Given the description of an element on the screen output the (x, y) to click on. 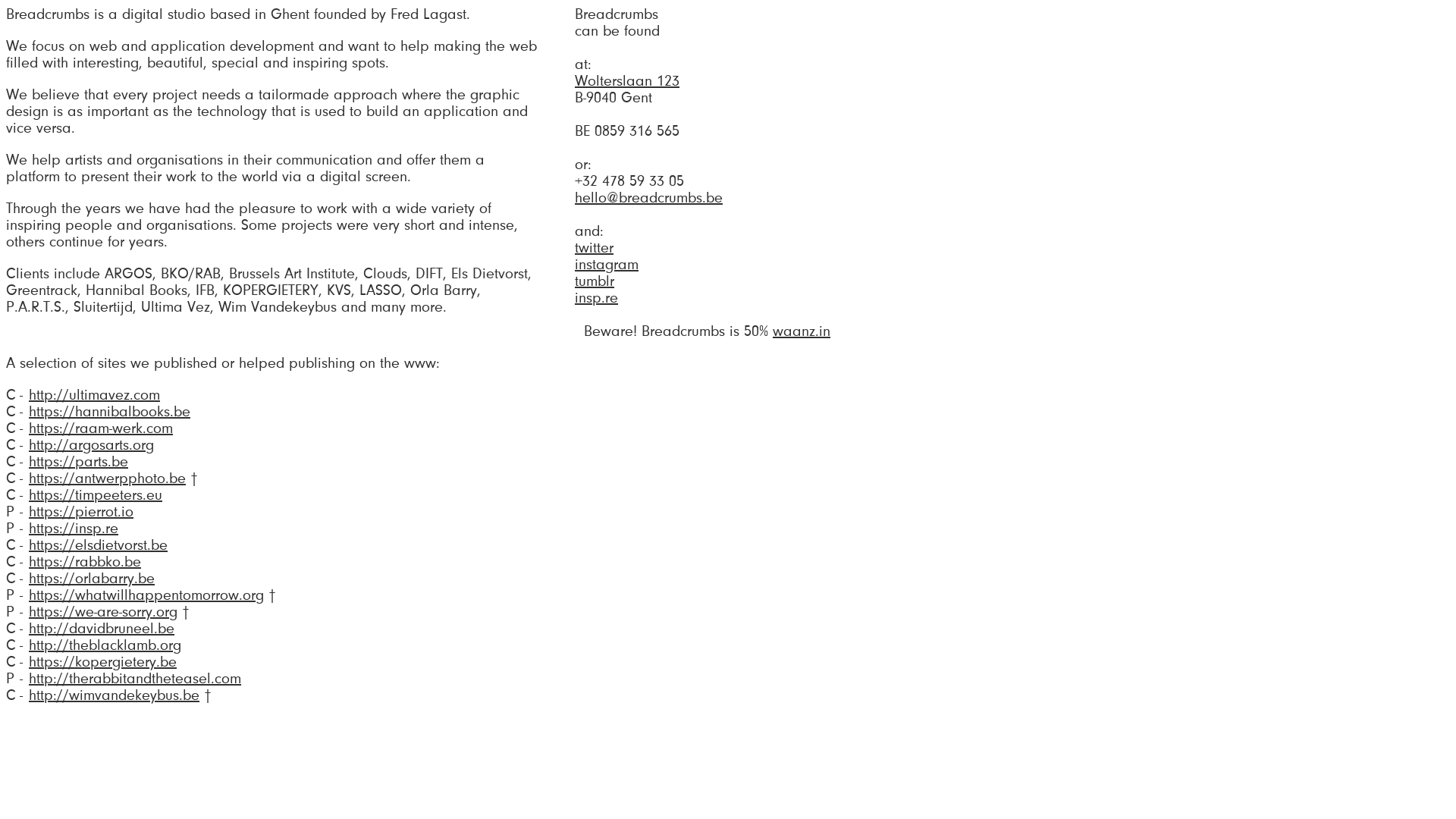
Chttps://orlabarry.be Element type: text (80, 578)
Chttp://theblacklamb.org Element type: text (93, 645)
tumblr Element type: text (594, 281)
hello@breadcrumbs.be Element type: text (648, 197)
Chttps://elsdietvorst.be Element type: text (86, 544)
insp.re Element type: text (596, 297)
Chttps://timpeeters.eu Element type: text (84, 494)
Chttp://argosarts.org Element type: text (79, 444)
twitter Element type: text (593, 247)
waanz.in Element type: text (801, 331)
Chttps://hannibalbooks.be Element type: text (98, 411)
Chttps://rabbko.be Element type: text (73, 561)
Chttp://davidbruneel.be Element type: text (90, 628)
Chttps://raam-werk.com Element type: text (89, 428)
Chttps://kopergietery.be Element type: text (91, 661)
Phttp://therabbitandtheteasel.com Element type: text (123, 678)
Chttp://ultimavez.com Element type: text (83, 394)
Phttps://pierrot.io Element type: text (69, 511)
Chttps://parts.be Element type: text (67, 461)
instagram Element type: text (606, 264)
Phttps://insp.re Element type: text (62, 528)
Wolterslaan 123 Element type: text (626, 80)
